Given the description of an element on the screen output the (x, y) to click on. 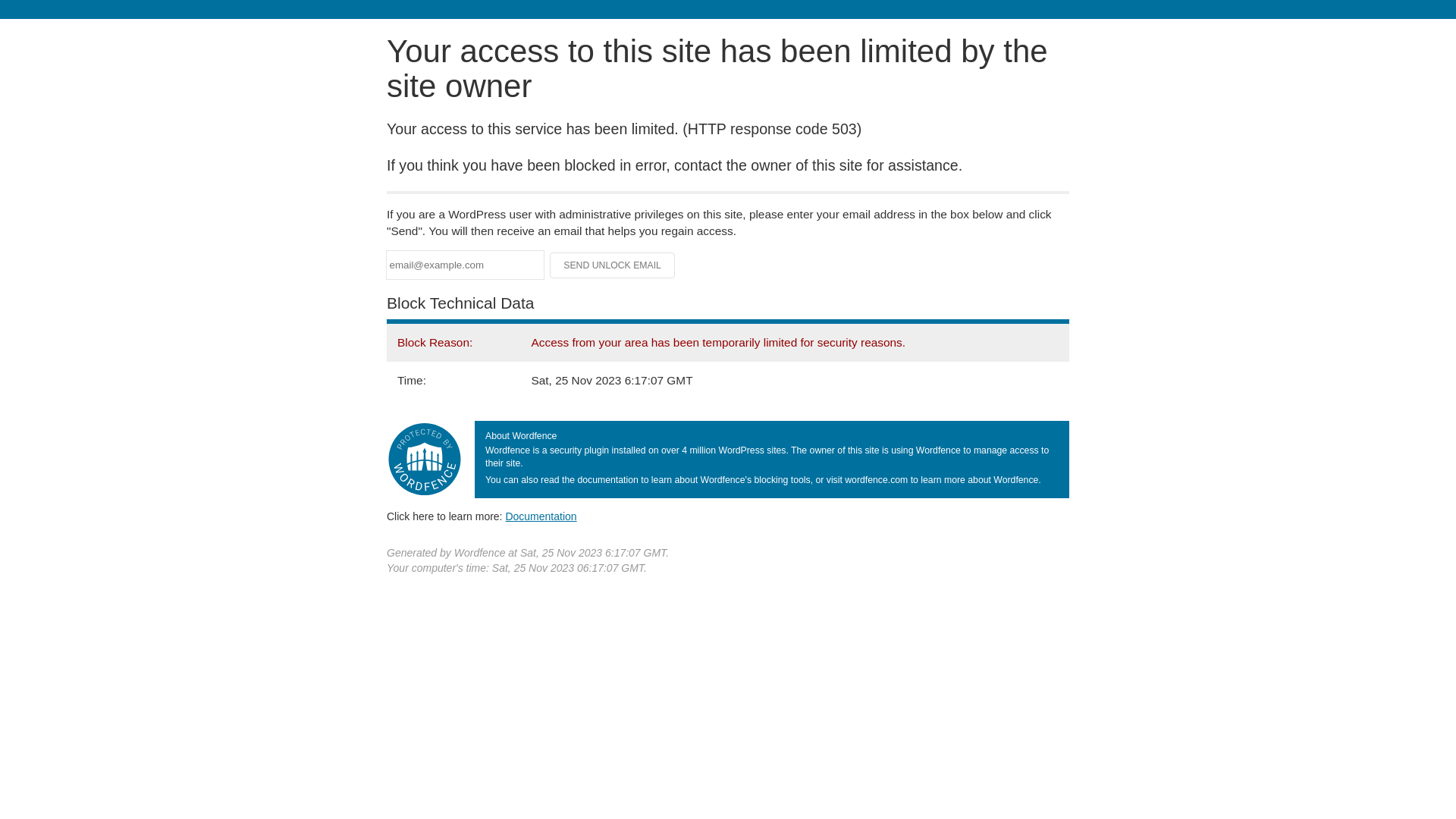
Documentation Element type: text (540, 516)
Send Unlock Email Element type: text (612, 265)
